Given the description of an element on the screen output the (x, y) to click on. 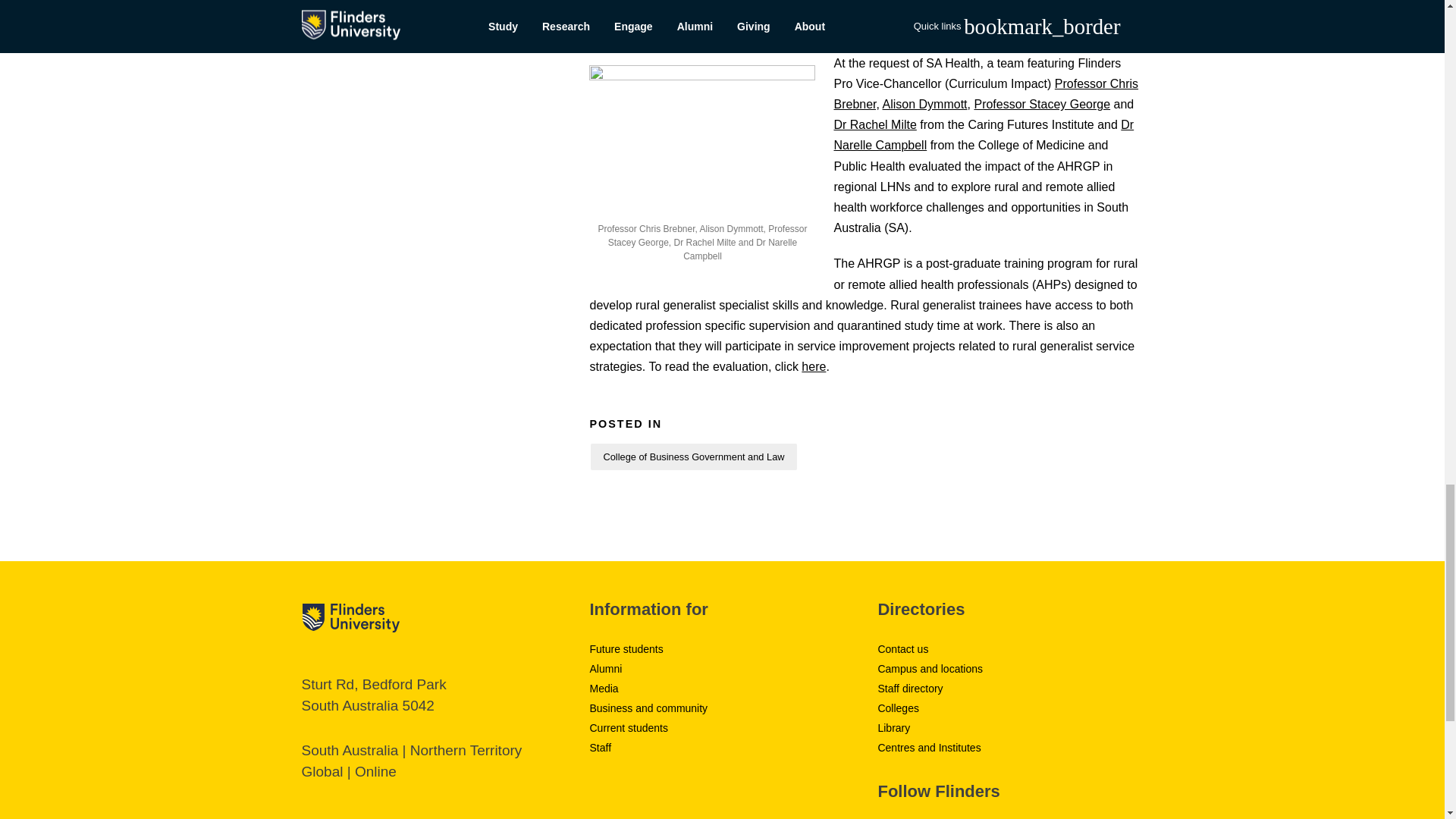
College of Business Government and Law (693, 456)
Alison Dymmott (925, 103)
Dr Narelle Campbell (983, 134)
Future students (625, 648)
here (813, 366)
Professor Stacey George (1041, 103)
Professor Chris Brebner, (985, 93)
Dr Rachel Milte (873, 124)
